Given the description of an element on the screen output the (x, y) to click on. 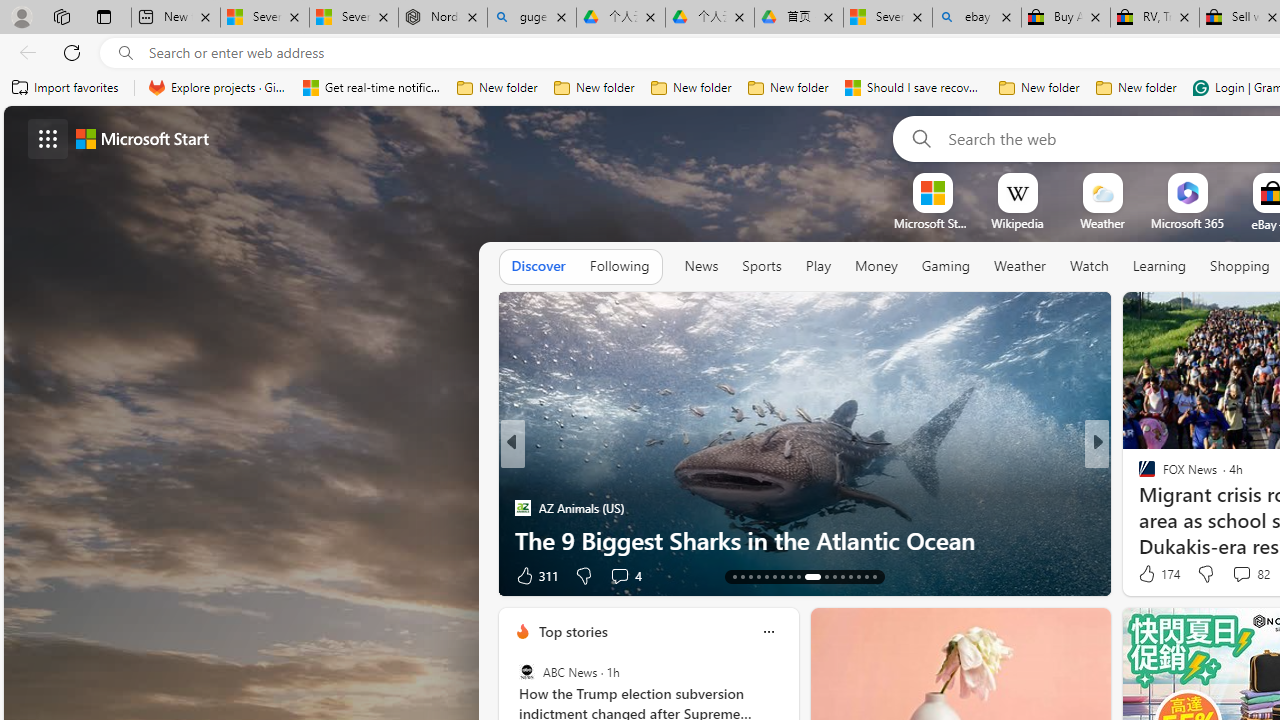
Discover (538, 267)
Nordace - Summer Adventures 2024 (443, 17)
Following (619, 267)
ebay - Search (977, 17)
Komando (1138, 507)
Search icon (125, 53)
View comments 82 Comment (1249, 574)
Gaming (945, 267)
AutomationID: tab-15 (750, 576)
AutomationID: tab-23 (825, 576)
23 Like (1149, 574)
